Given the description of an element on the screen output the (x, y) to click on. 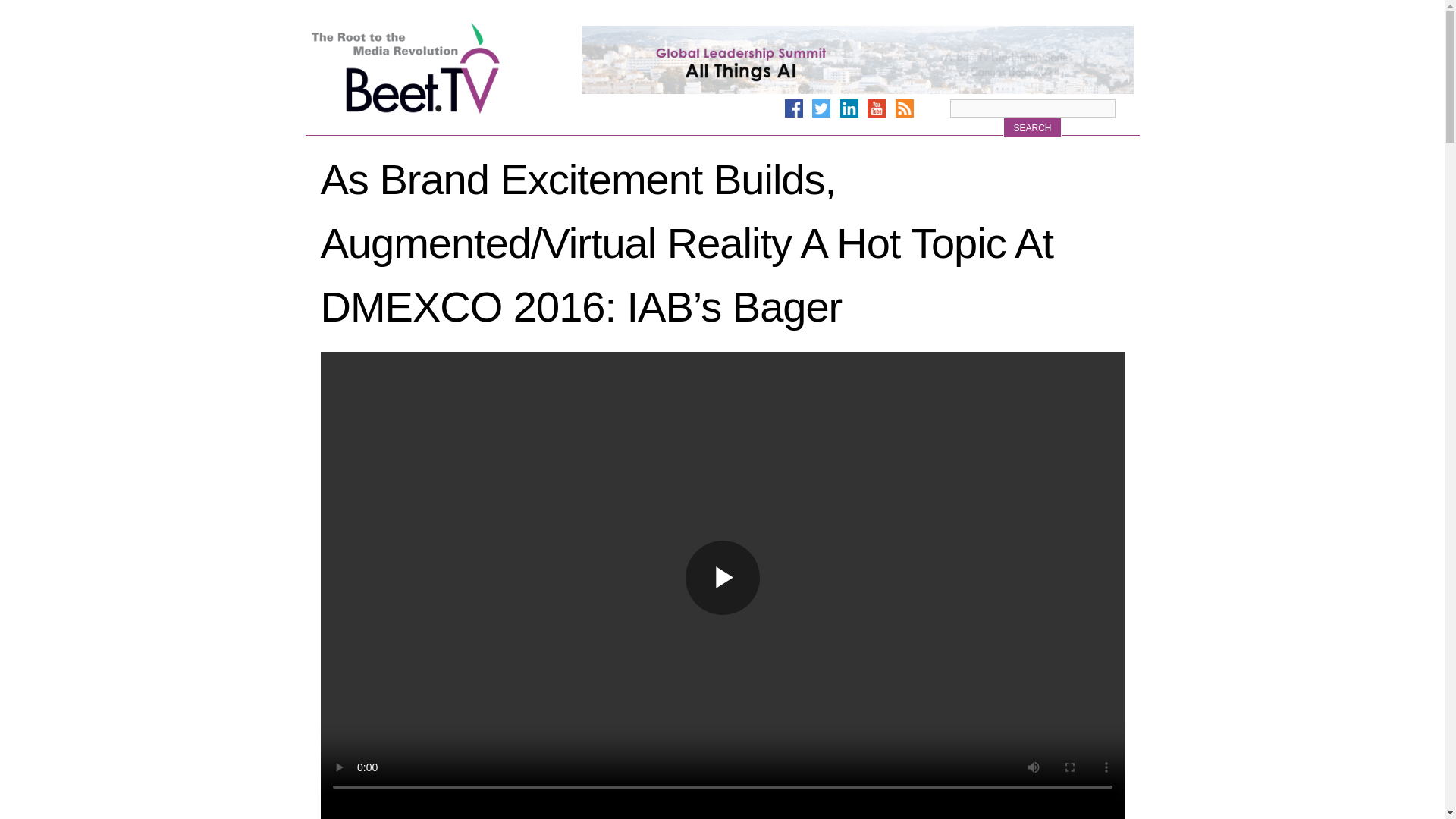
Beet.TV (443, 67)
Search for: (1032, 108)
Search (1032, 127)
Search (1032, 127)
Play Video (722, 577)
Play Video (722, 577)
Search (1032, 127)
